Given the description of an element on the screen output the (x, y) to click on. 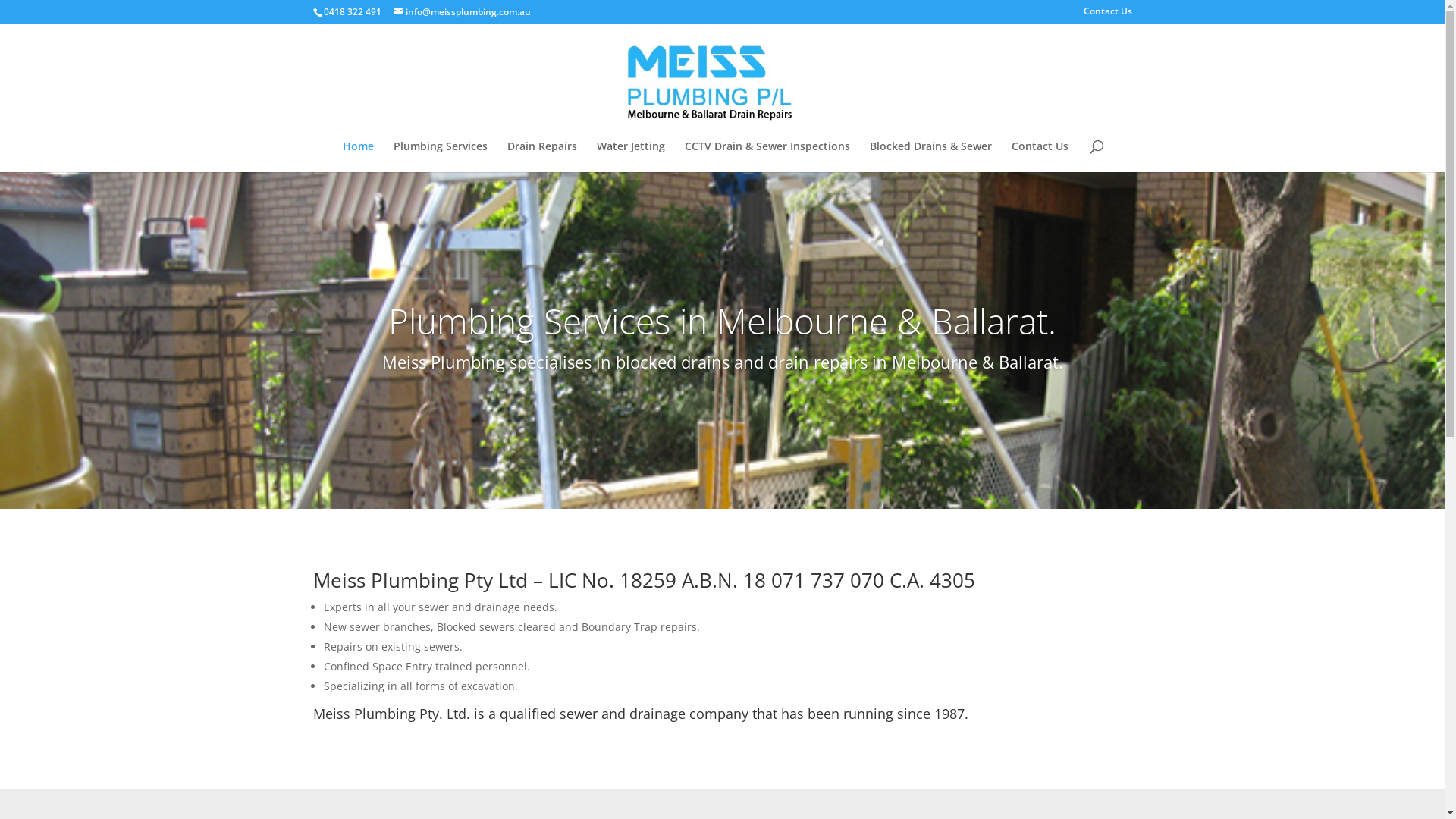
CCTV Drain & Sewer Inspections Element type: text (767, 156)
Contact Us Element type: text (1039, 156)
info@meissplumbing.com.au Element type: text (461, 11)
Blocked Drains & Sewer Element type: text (930, 156)
Contact Us Element type: text (1106, 14)
Home Element type: text (357, 156)
Drain Repairs Element type: text (542, 156)
Water Jetting Element type: text (630, 156)
Plumbing Services Element type: text (440, 156)
